Given the description of an element on the screen output the (x, y) to click on. 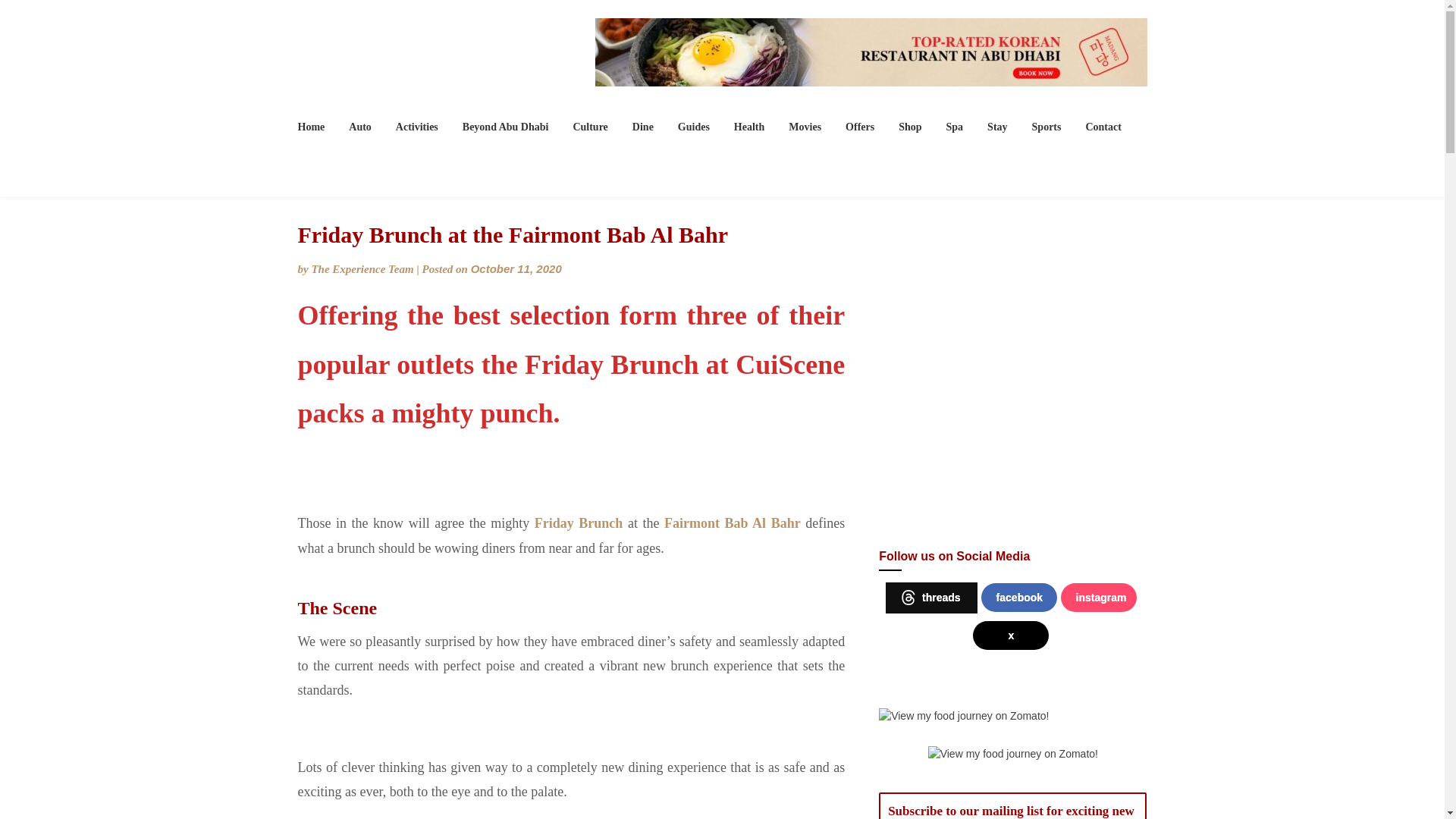
Contact (1102, 126)
Experience Abu Dhabi Madangi 720x90 (870, 52)
Health (749, 126)
Sports (1047, 126)
Offers (859, 126)
Activities (416, 126)
Auto (360, 126)
Dine (642, 126)
Movies (804, 126)
Home (316, 126)
Shop (909, 126)
October 11, 2020 (516, 268)
Stay (997, 126)
Spa (954, 126)
Culture (590, 126)
